Given the description of an element on the screen output the (x, y) to click on. 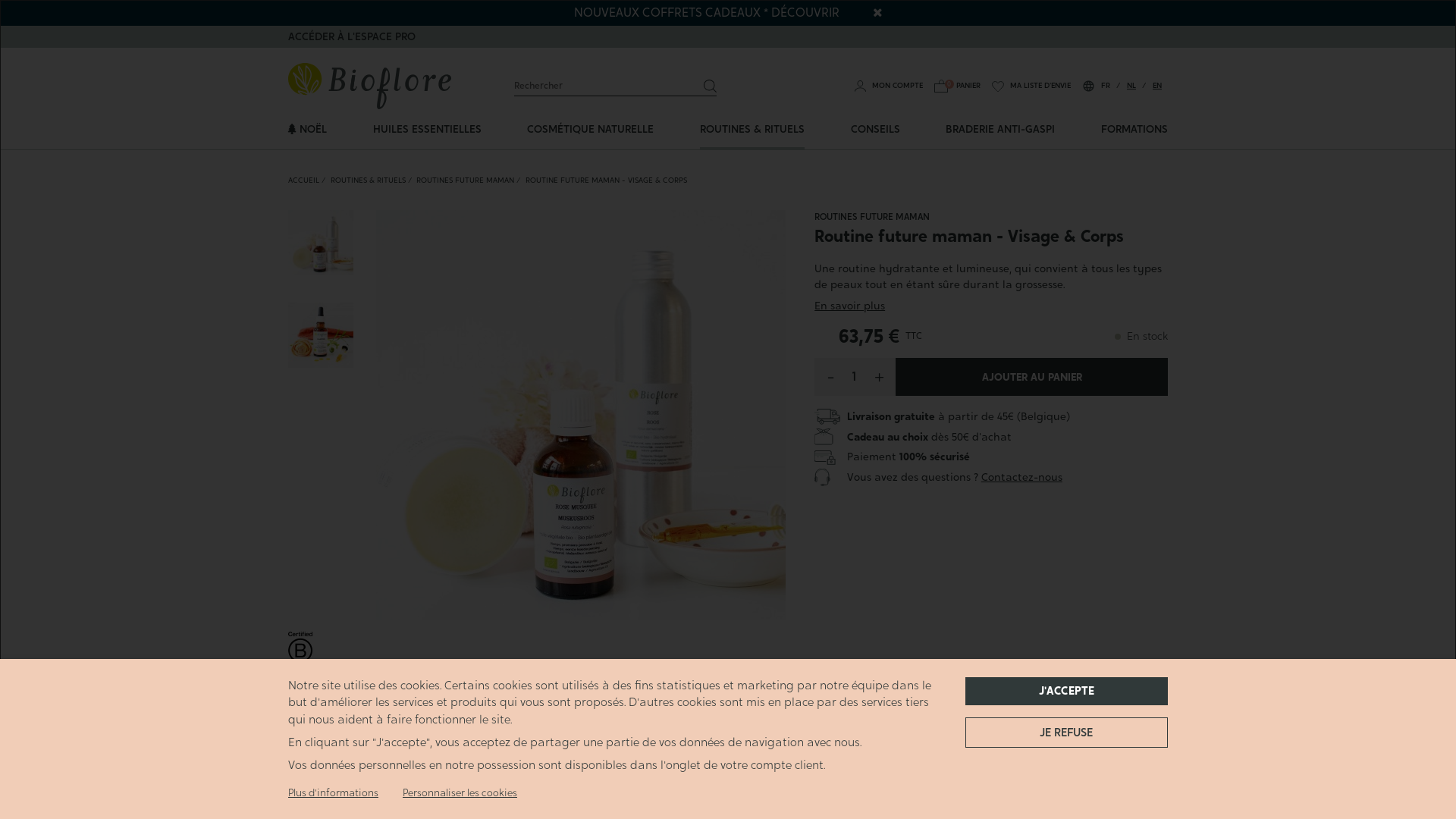
EN Element type: text (1156, 85)
+ Element type: text (879, 376)
Rechercher Element type: hover (710, 85)
B-corp Element type: hover (300, 651)
ROUTINES & RITUELS Element type: text (751, 129)
JE REFUSE Element type: text (1065, 732)
Personnaliser les cookies Element type: text (459, 792)
En savoir plus Element type: text (849, 305)
J'ACCEPTE Element type: text (1065, 691)
ROUTINES FUTURE MAMAN Element type: text (465, 180)
Plus d'informations Element type: text (333, 792)
NL Element type: text (1130, 85)
- Element type: text (830, 376)
CONSEILS Element type: text (875, 129)
ACCUEIL Element type: text (303, 180)
MA LISTE D'ENVIE Element type: text (1030, 85)
FORMATIONS Element type: text (1134, 129)
MON COMPTE Element type: text (887, 85)
Fermer Element type: hover (876, 12)
HUILES ESSENTIELLES Element type: text (427, 129)
BRADERIE ANTI-GASPI Element type: text (999, 129)
Contactez-nous Element type: text (1021, 477)
AJOUTER AU PANIER Element type: text (1031, 376)
ROUTINES & RITUELS Element type: text (367, 180)
